Given the description of an element on the screen output the (x, y) to click on. 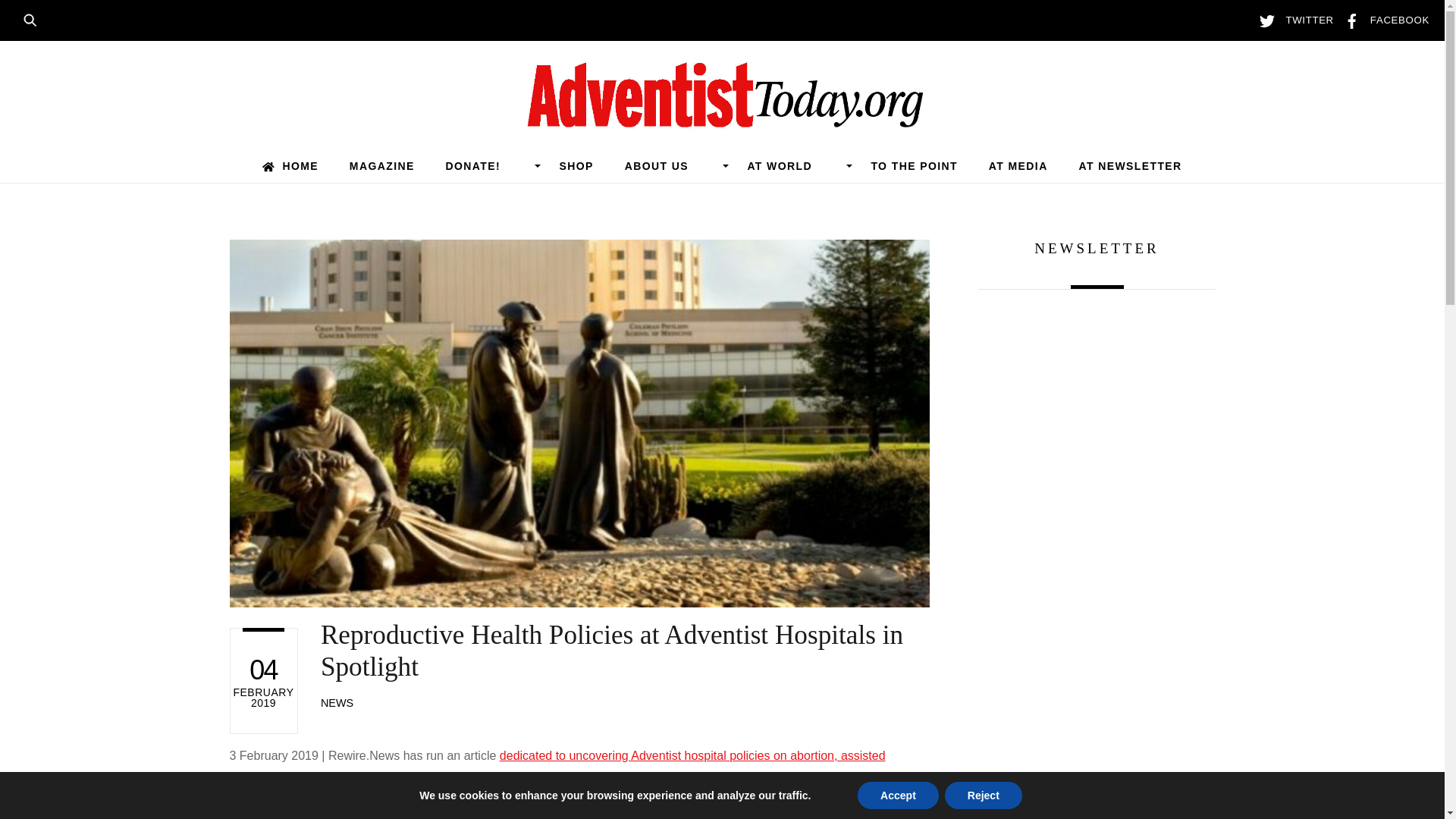
NEWS (336, 702)
FACEBOOK (1382, 19)
MAGAZINE (381, 165)
AT NEWSLETTER (1129, 165)
SHOP (576, 165)
Search (35, 18)
HOME (290, 165)
Adventist Today (722, 119)
